Given the description of an element on the screen output the (x, y) to click on. 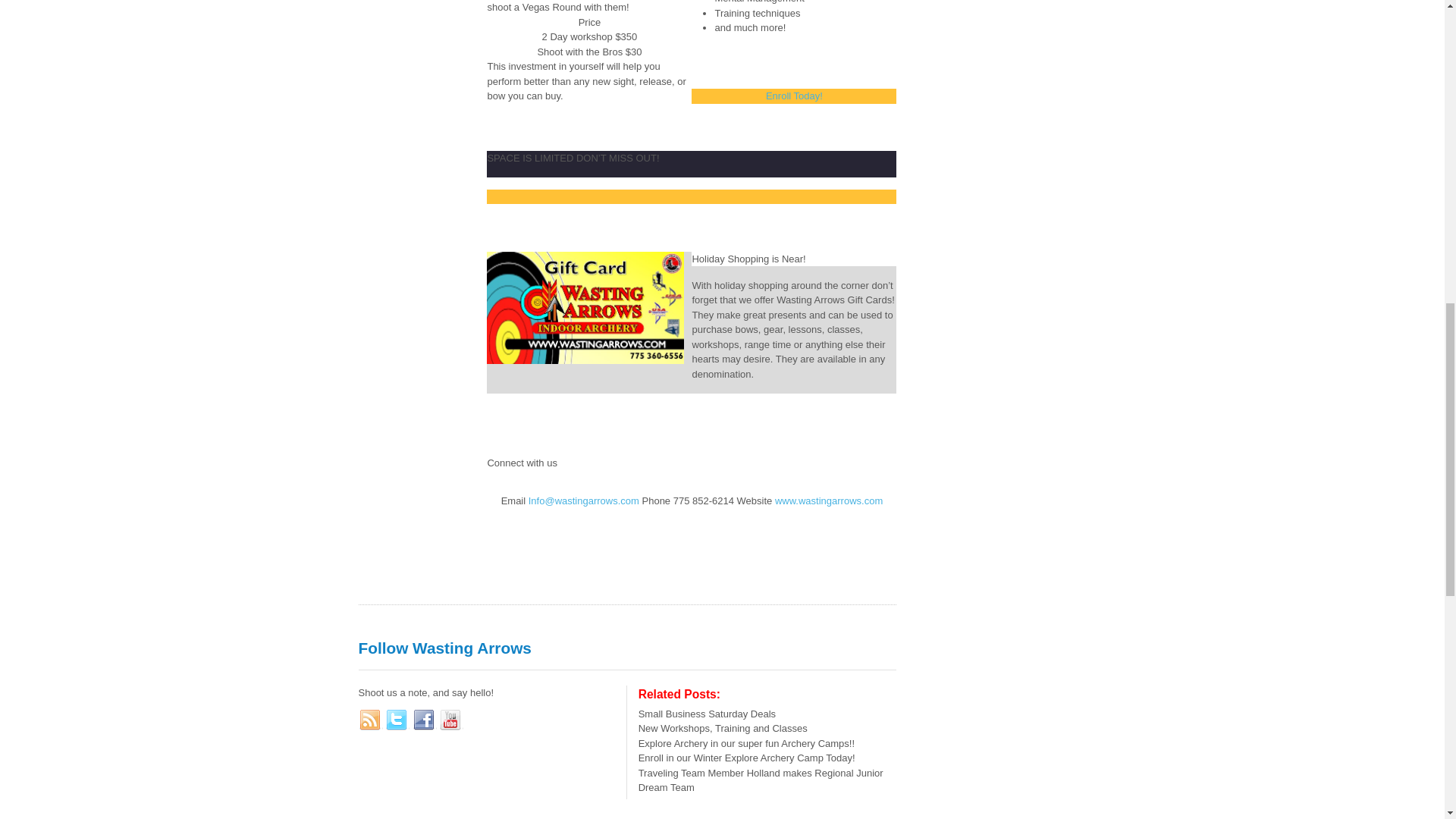
New Workshops, Training and Classes (723, 727)
www.wastingarrows.com (828, 500)
Enroll in our Winter Explore Archery Camp Today! (747, 757)
Explore Archery in our super fun Archery Camps!! (746, 743)
Enroll in our Winter Explore Archery Camp Today! (747, 757)
Facebook (424, 720)
RSS (369, 720)
YouTube (451, 720)
